Given the description of an element on the screen output the (x, y) to click on. 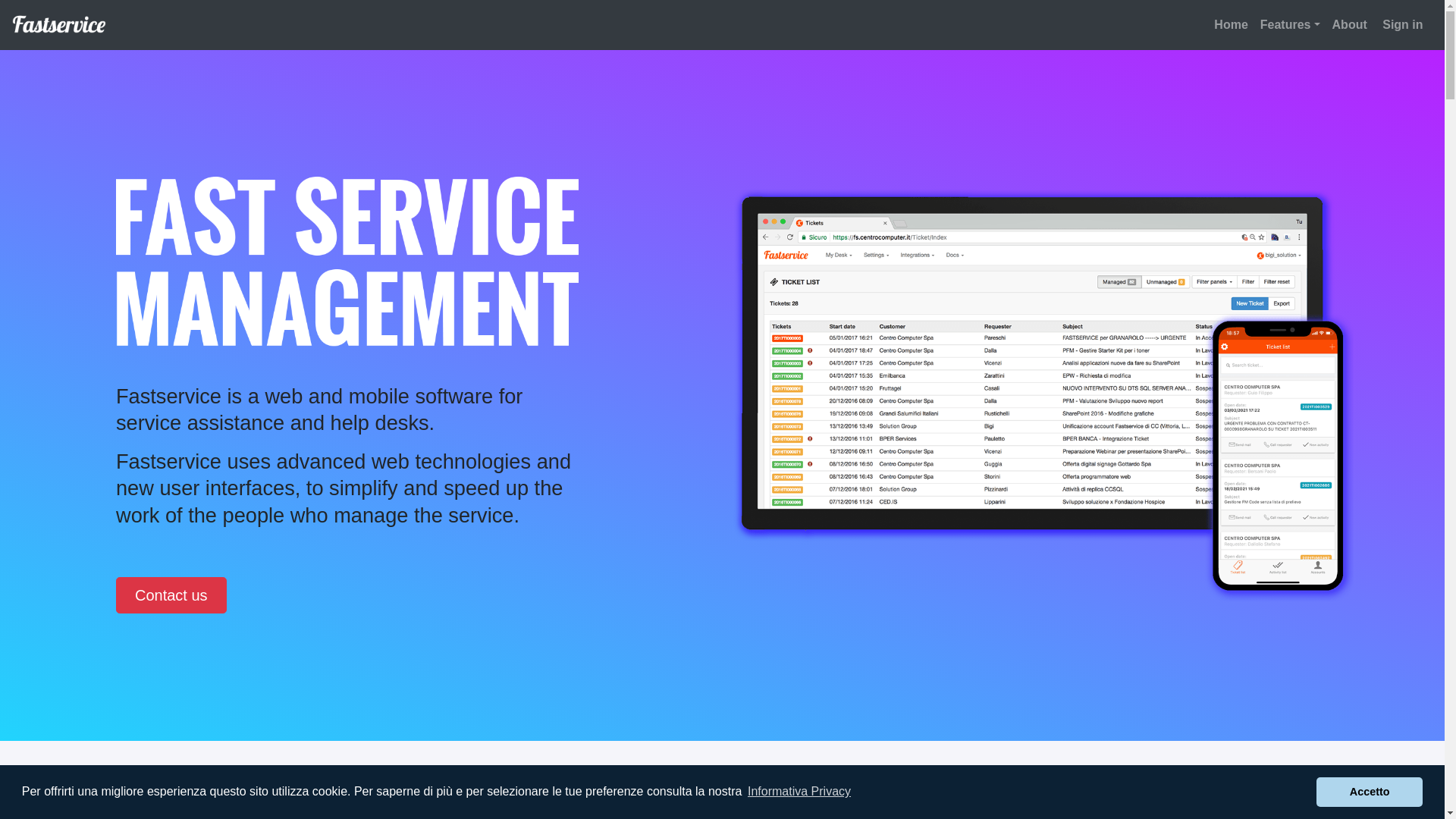
Accetto Element type: text (1369, 791)
Solution Group - divisione di Centro Computer Spa Element type: text (107, 798)
Sign in  Element type: text (1404, 25)
Home Element type: text (1230, 25)
Features Element type: text (1290, 25)
Informativa Privacy Element type: text (799, 791)
About 
(current) Element type: text (1351, 25)
Contact us Element type: text (171, 595)
